Given the description of an element on the screen output the (x, y) to click on. 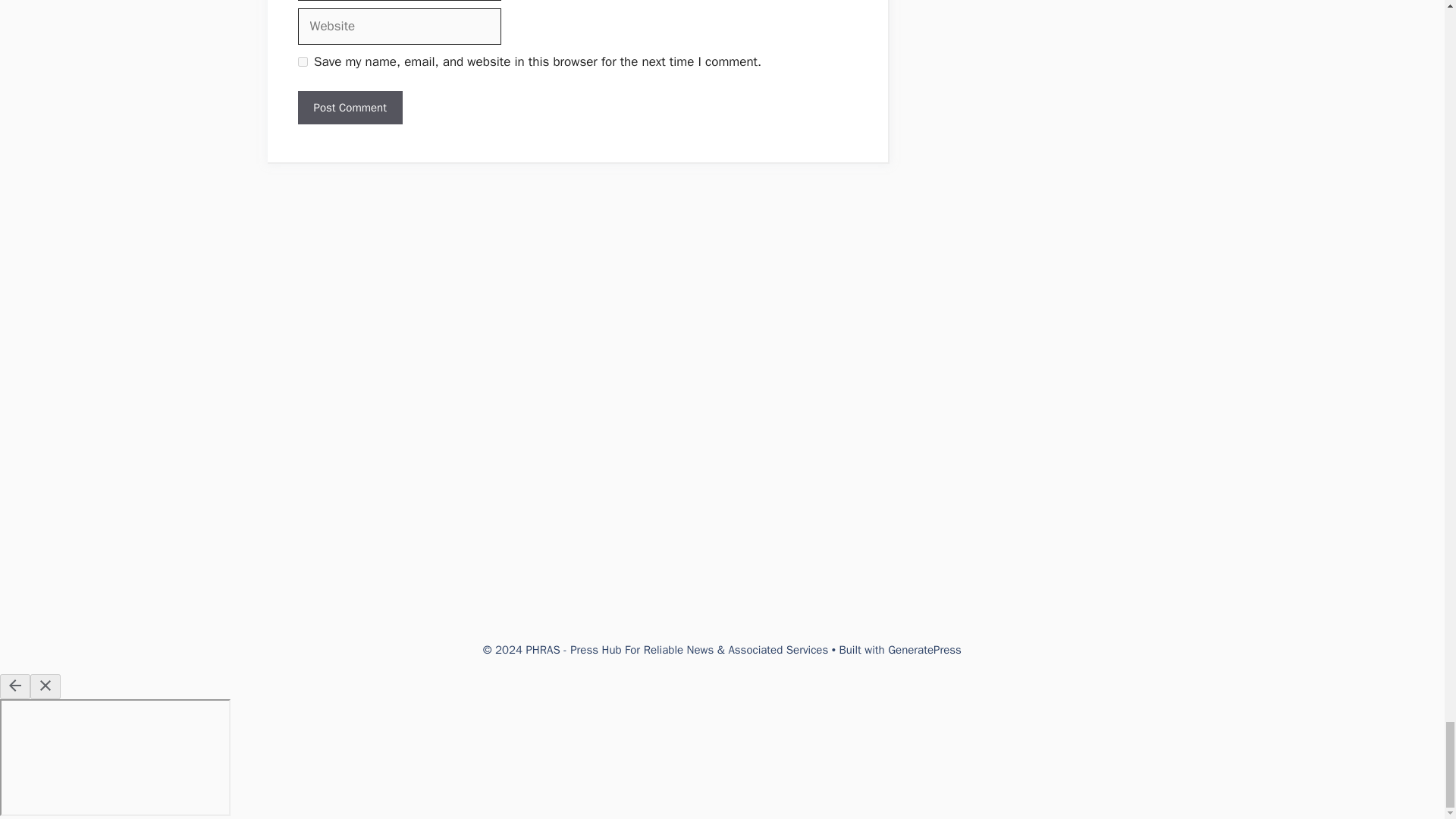
Post Comment (349, 107)
Post Comment (349, 107)
yes (302, 61)
